Given the description of an element on the screen output the (x, y) to click on. 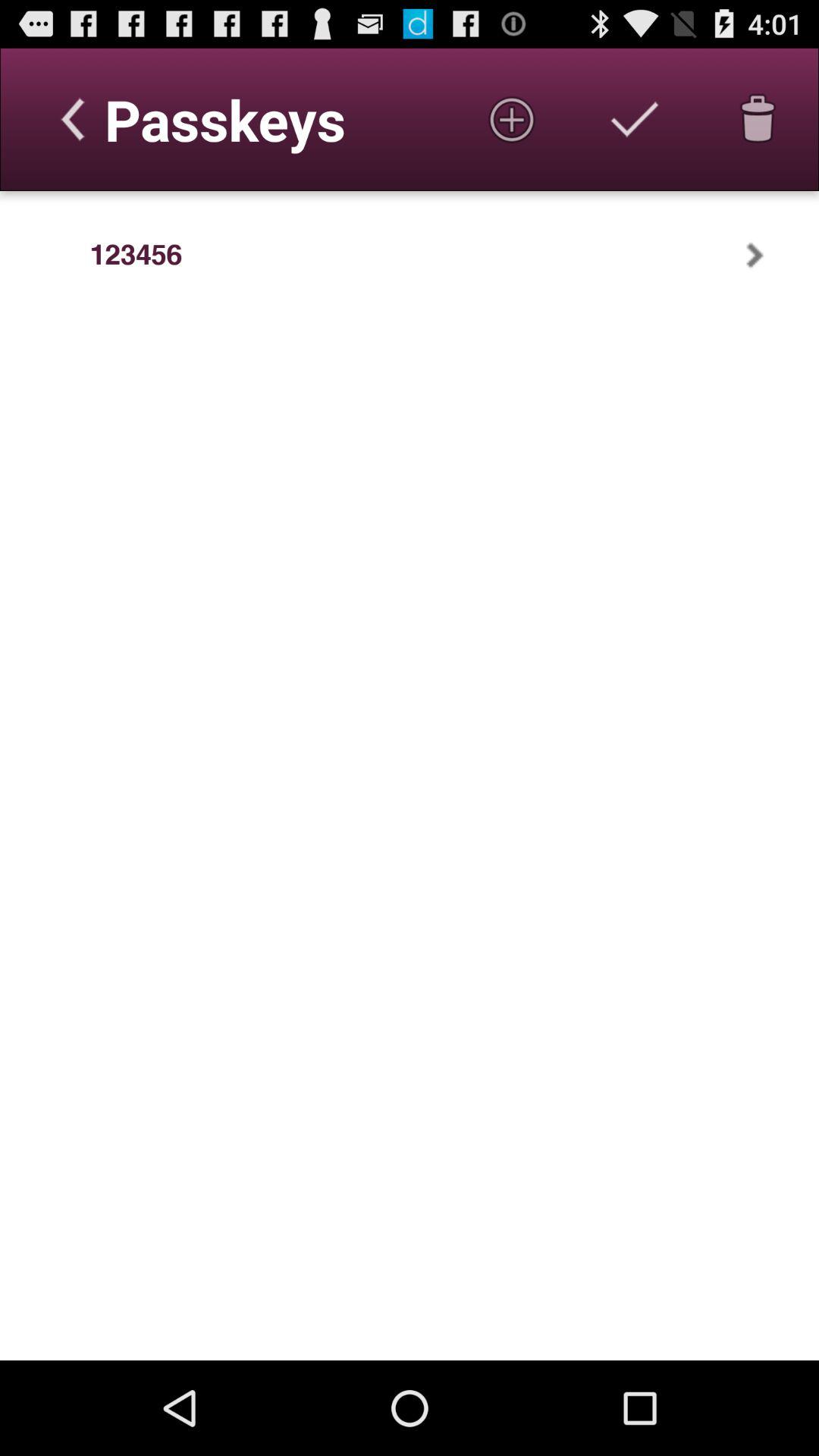
delete button (757, 119)
